Given the description of an element on the screen output the (x, y) to click on. 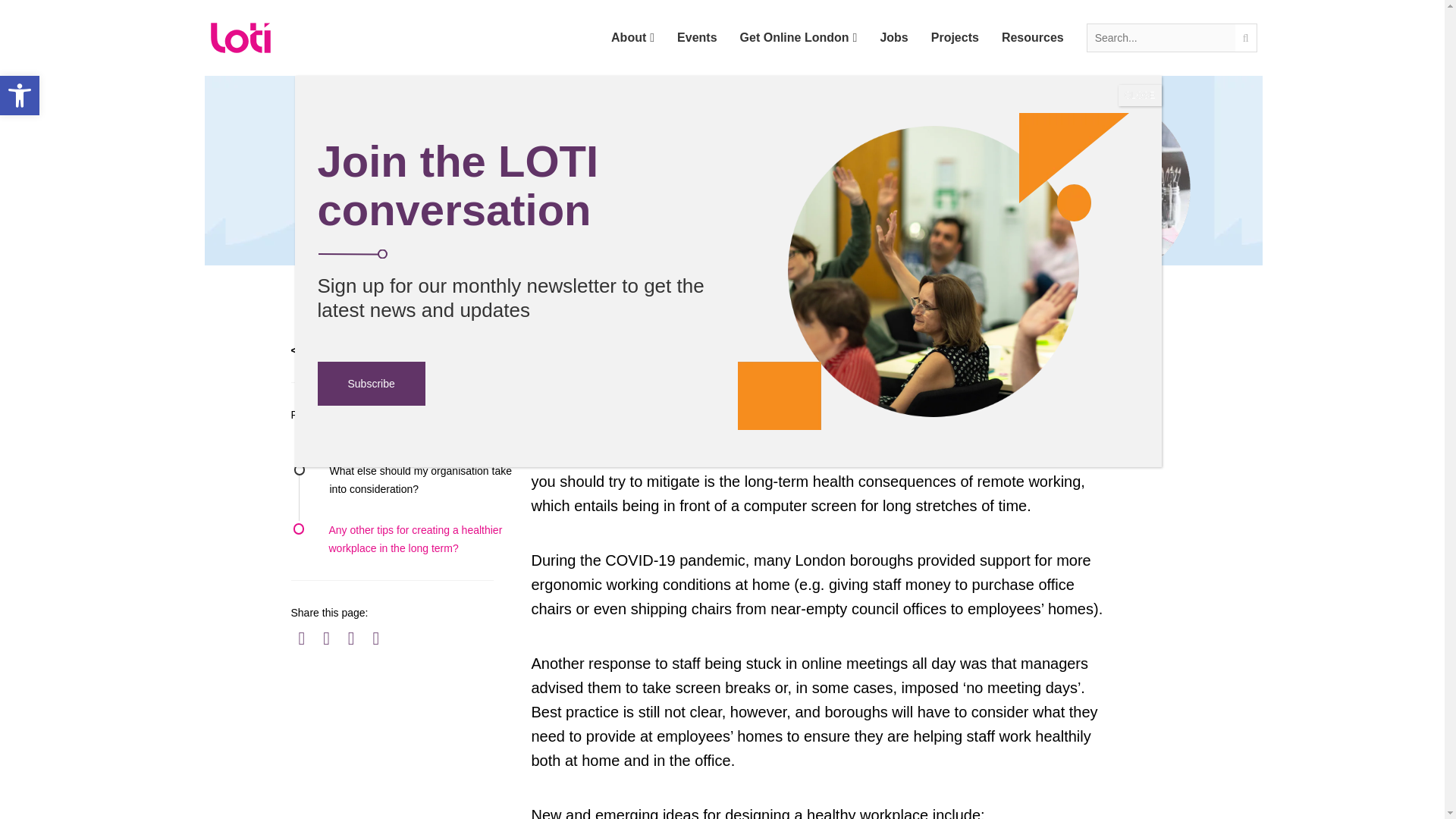
Pages (19, 95)
LOTI (404, 414)
Accessibility Tools (240, 37)
What else should my organisation take into consideration? (19, 95)
Get Online London (420, 480)
Accessibility Tools (798, 38)
